Given the description of an element on the screen output the (x, y) to click on. 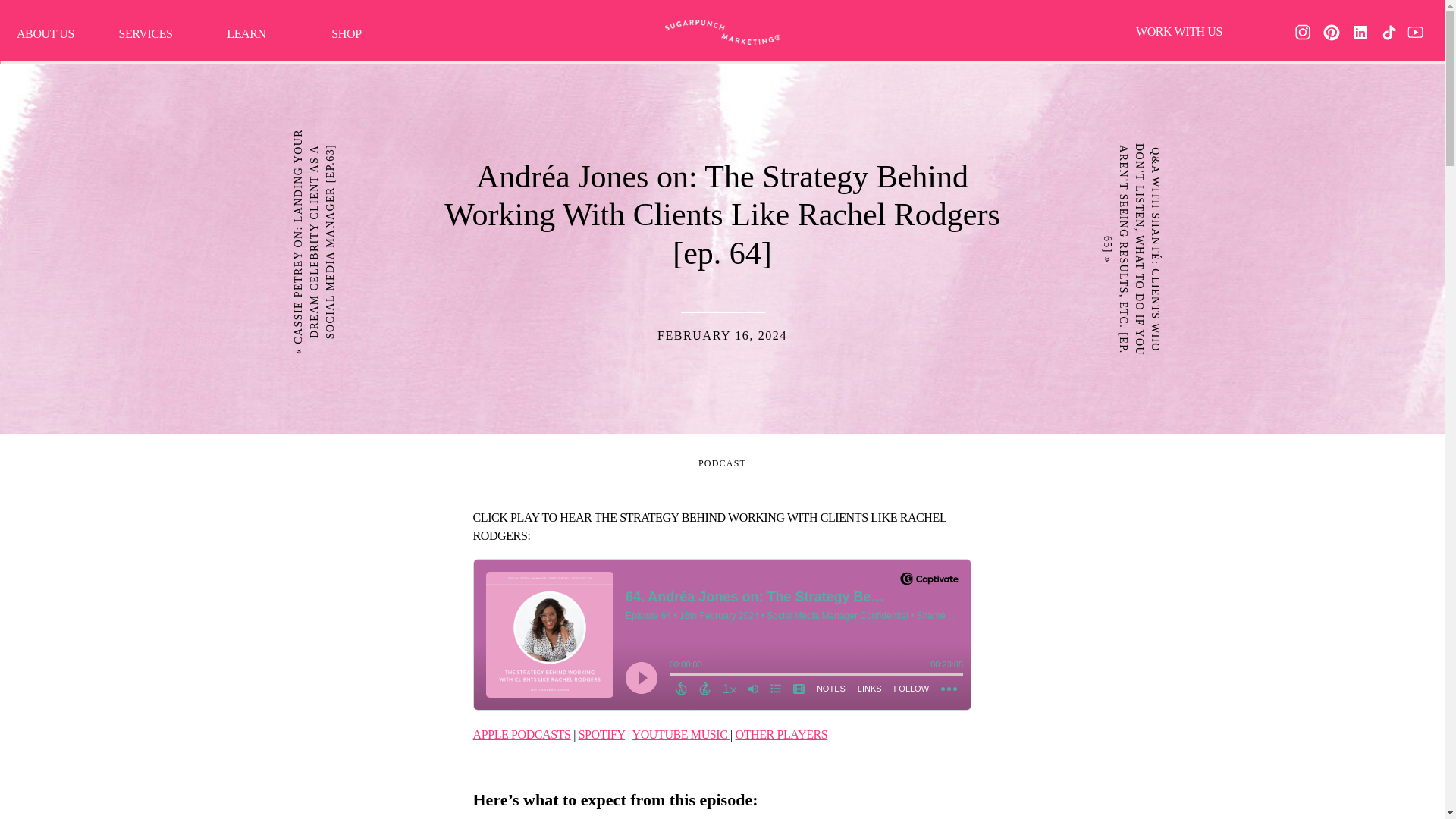
SERVICES (145, 32)
WORK WITH US (1179, 30)
SPOTIFY (602, 734)
ABOUT US (45, 32)
LEARN (246, 34)
APPLE PODCASTS (521, 734)
PODCAST (721, 462)
OTHER PLAYERS (781, 734)
SHOP (346, 32)
YOUTUBE MUSIC (680, 734)
